Given the description of an element on the screen output the (x, y) to click on. 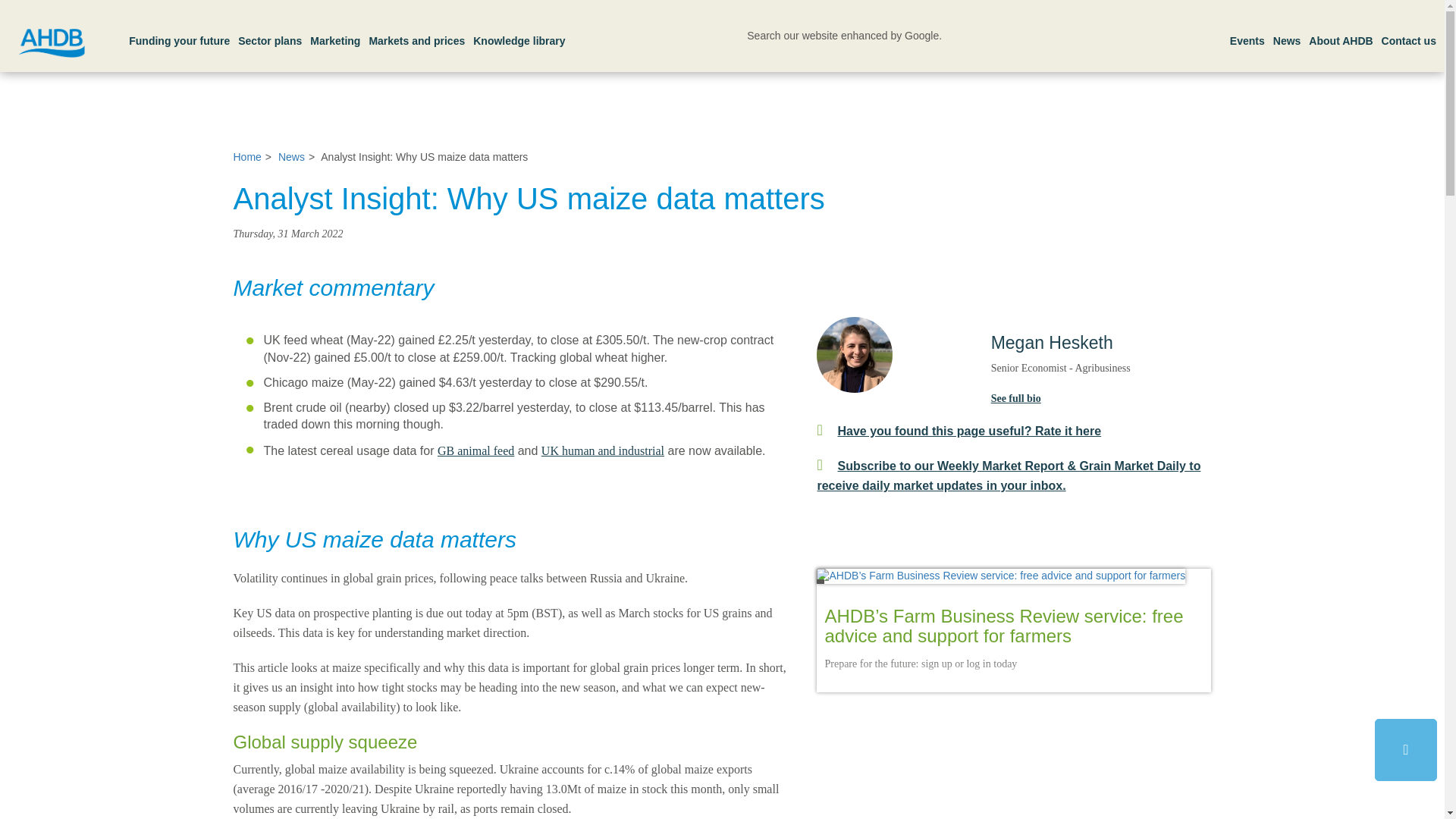
Markets and prices (416, 32)
Knowledge library (518, 32)
Events (1247, 32)
Funding your future (179, 32)
Sector plans (269, 32)
Cookie Settings (42, 9)
Marketing (334, 32)
About AHDB (1340, 32)
Contact us (1408, 32)
